Given the description of an element on the screen output the (x, y) to click on. 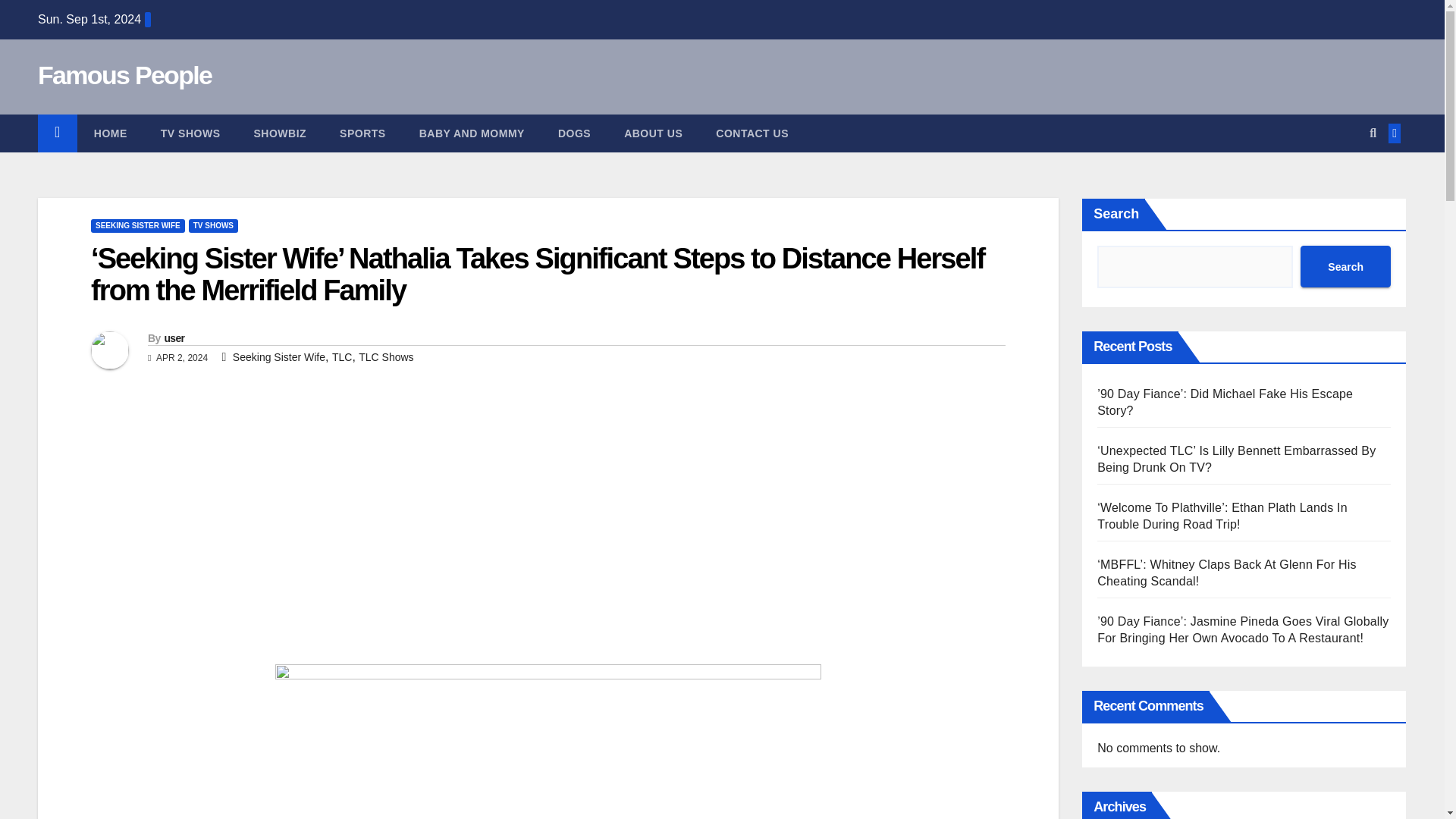
About Us (652, 133)
Showbiz (279, 133)
TV SHOWS (213, 225)
TLC (341, 357)
ABOUT US (652, 133)
Contact Us (751, 133)
Baby and Mommy (472, 133)
Home (110, 133)
Seeking Sister Wife (278, 357)
BABY AND MOMMY (472, 133)
